Given the description of an element on the screen output the (x, y) to click on. 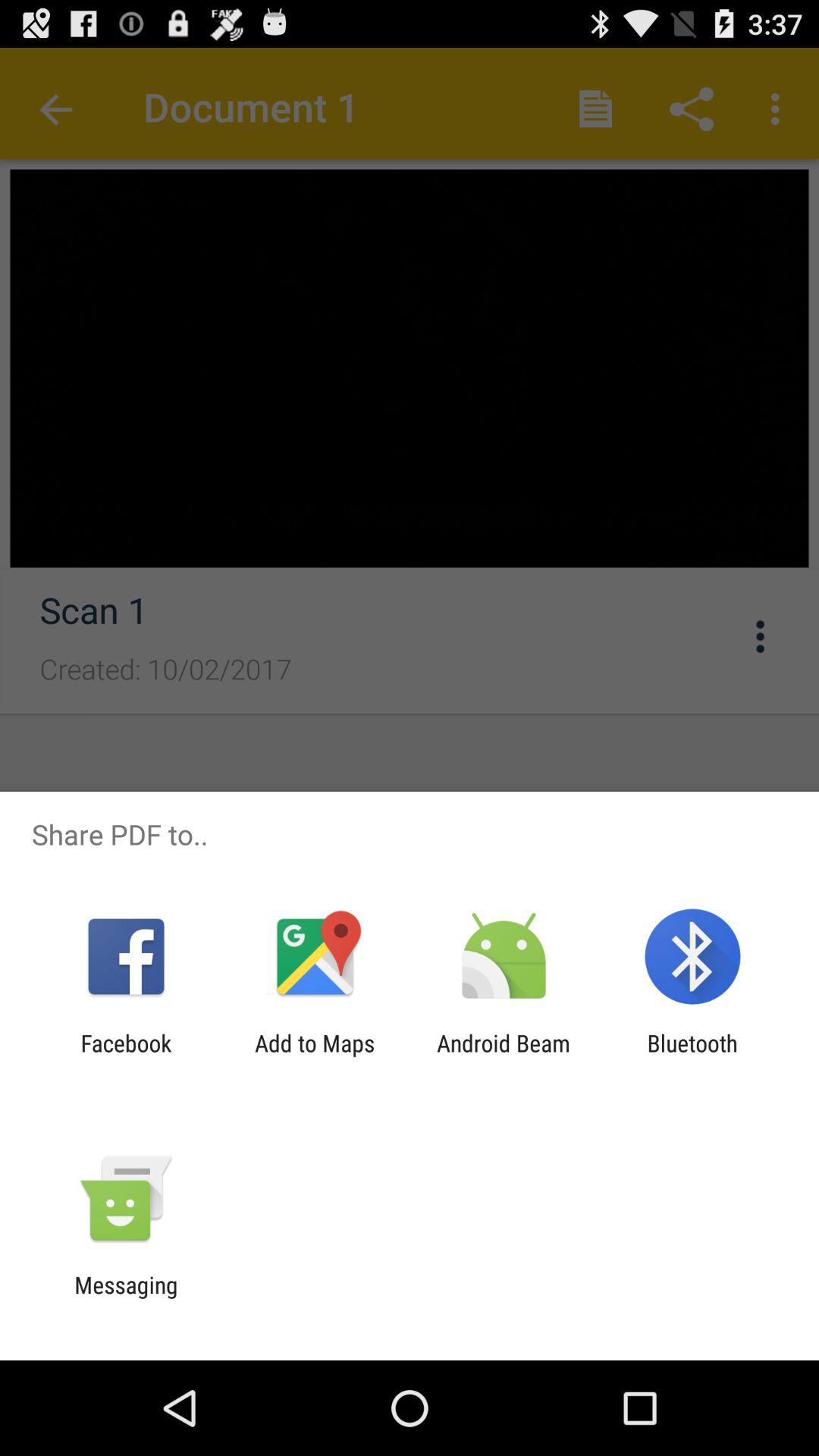
swipe until facebook (125, 1056)
